Given the description of an element on the screen output the (x, y) to click on. 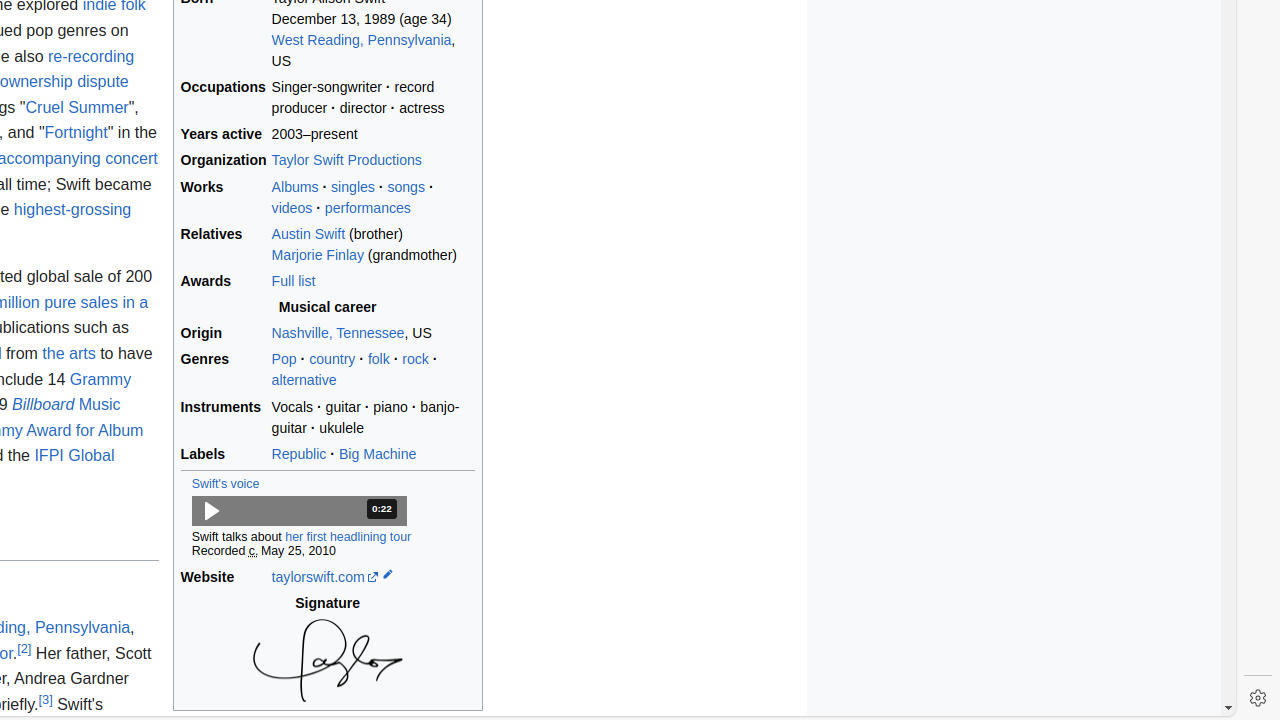
country Element type: link (332, 359)
songs Element type: link (406, 186)
Big Machine Element type: link (377, 453)
rock Element type: link (415, 359)
